Given the description of an element on the screen output the (x, y) to click on. 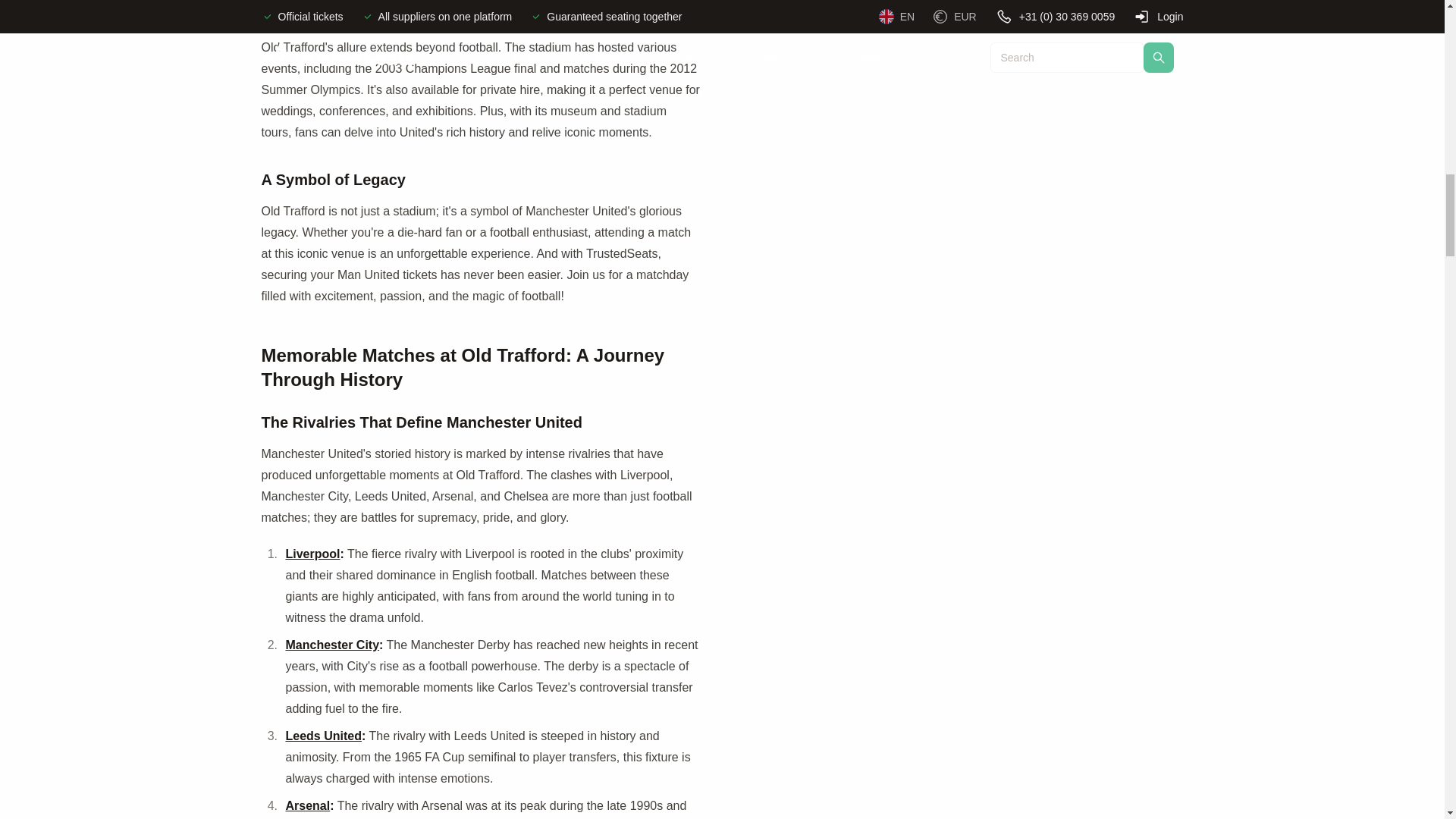
Leeds United (323, 735)
Liverpool (312, 553)
Manchester City (331, 644)
Arsenal (307, 805)
